Given the description of an element on the screen output the (x, y) to click on. 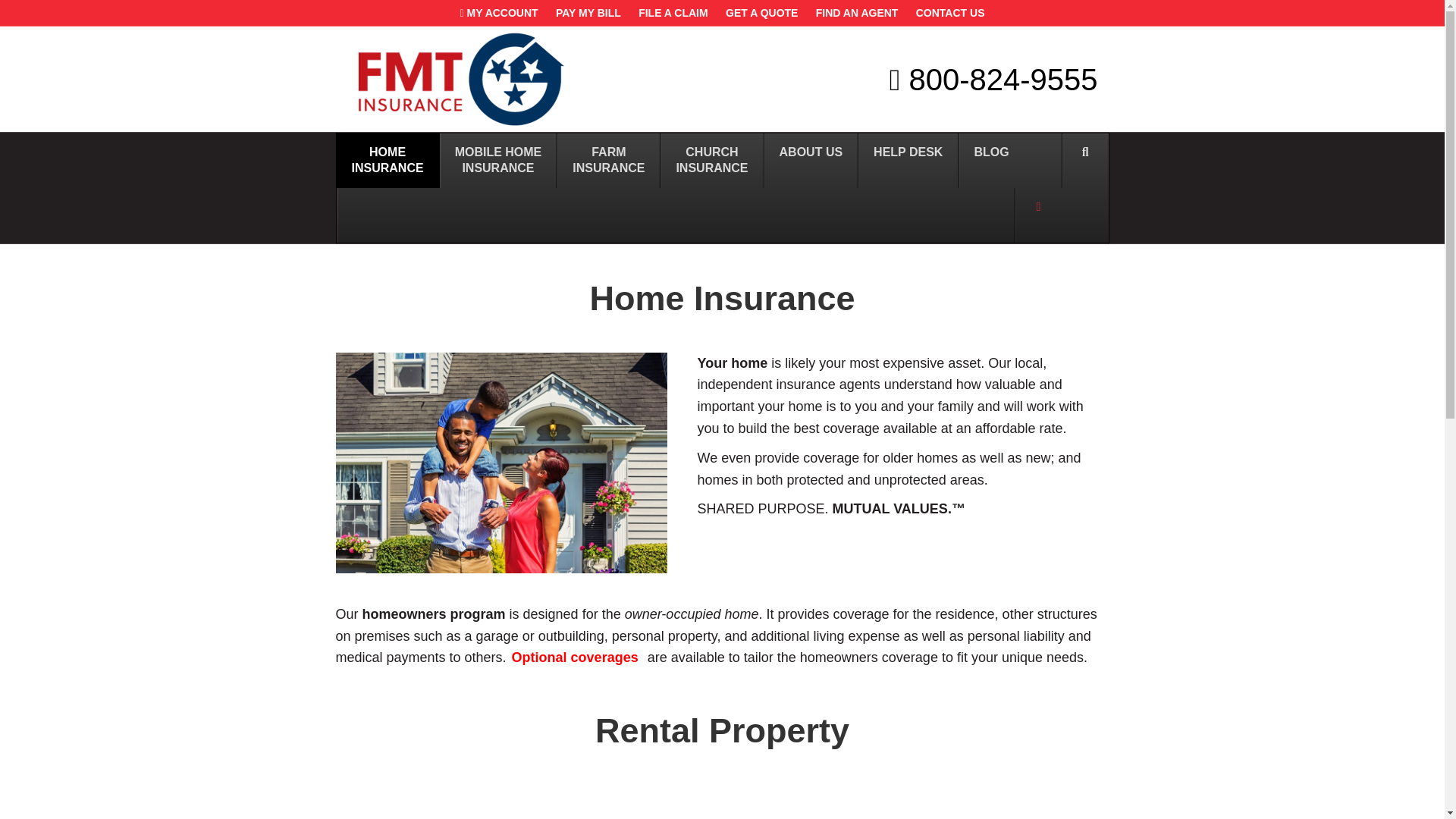
FIND AN AGENT (856, 13)
GET A QUOTE (761, 13)
CONTACT US (950, 13)
PAY MY BILL (588, 13)
MY ACCOUNT (497, 13)
Optional coverages (575, 657)
FILE A CLAIM (673, 13)
